Given the description of an element on the screen output the (x, y) to click on. 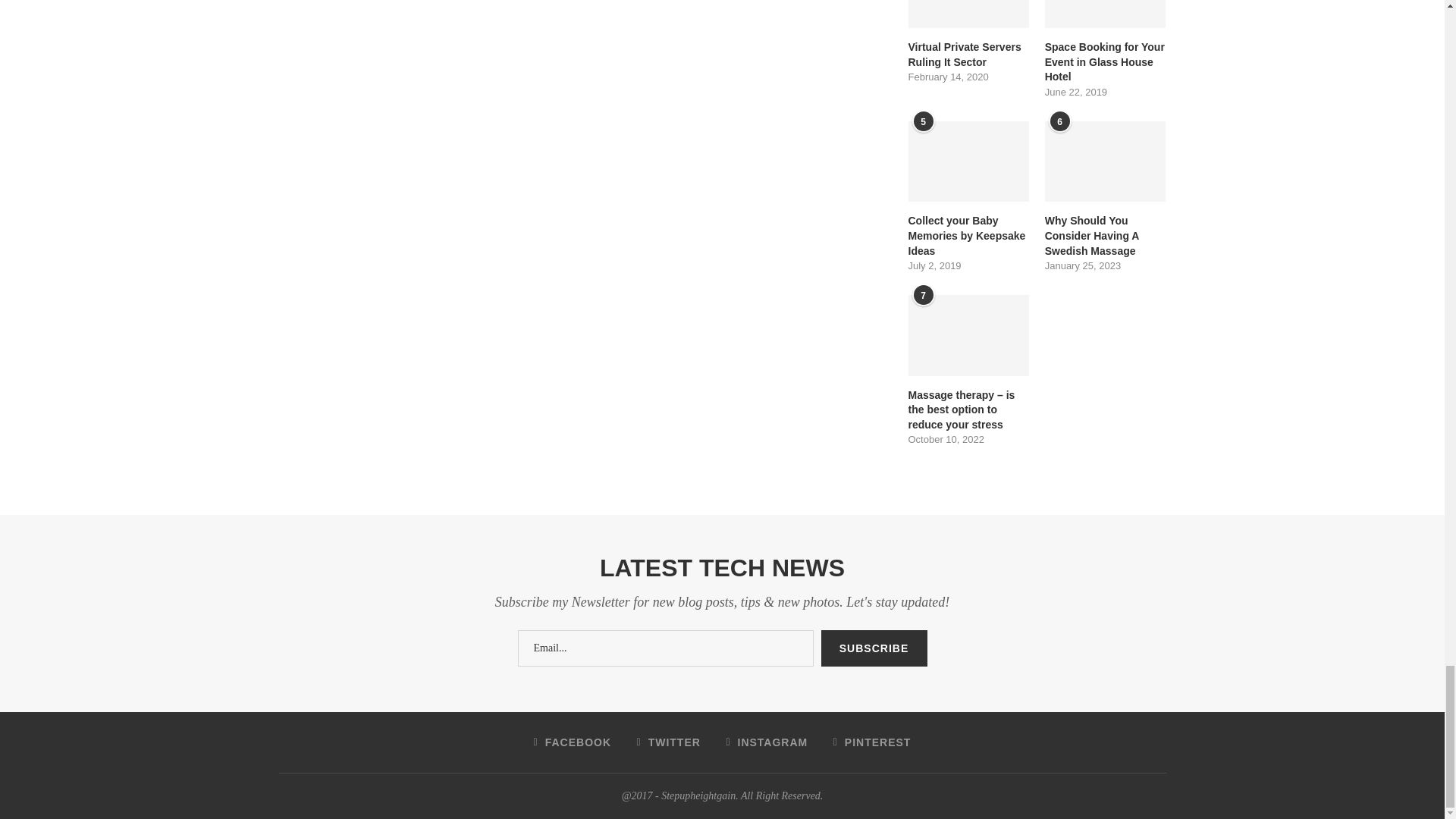
Subscribe (873, 647)
